Given the description of an element on the screen output the (x, y) to click on. 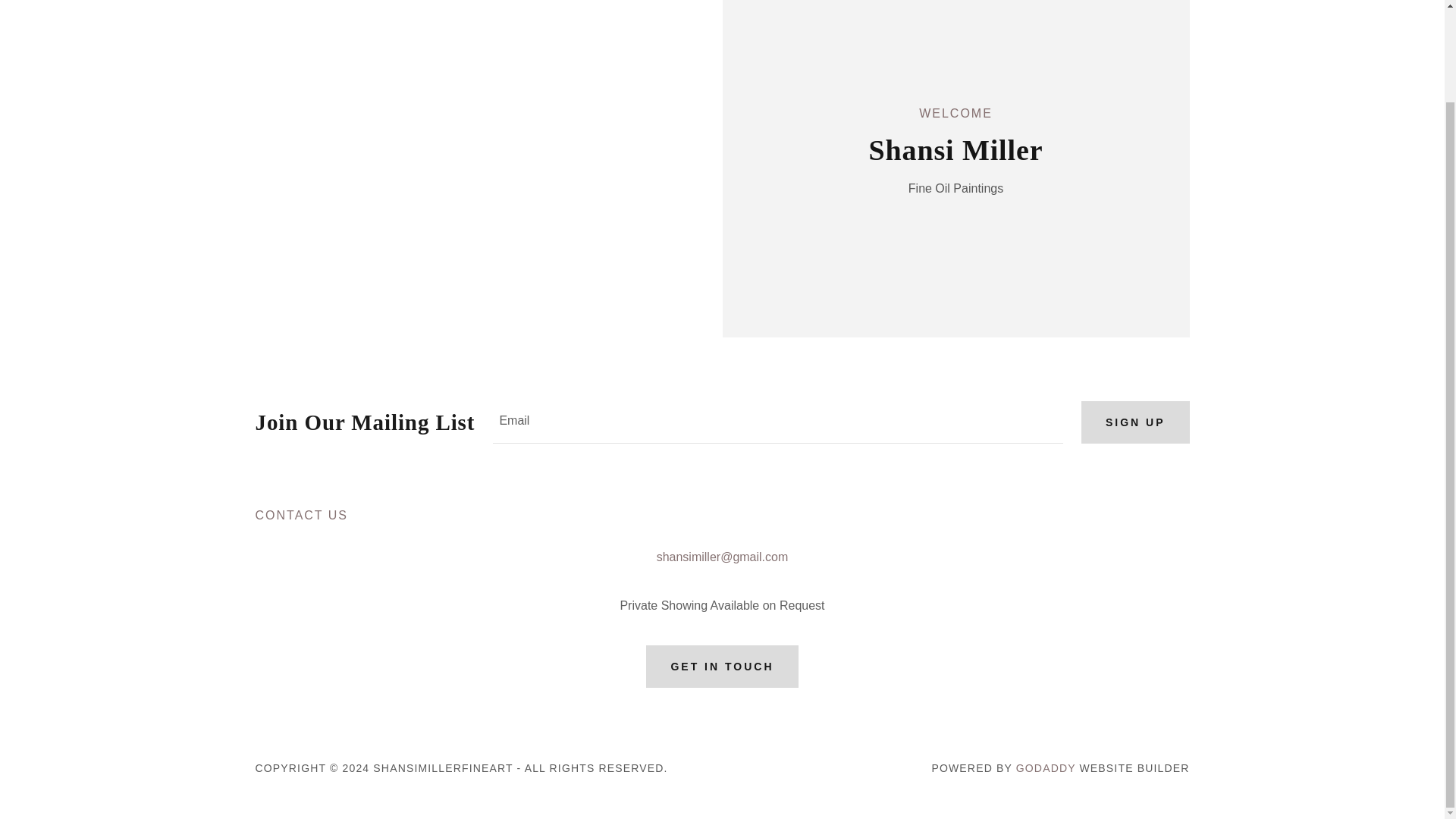
GODADDY (1045, 767)
SIGN UP (1135, 422)
GET IN TOUCH (721, 666)
